Given the description of an element on the screen output the (x, y) to click on. 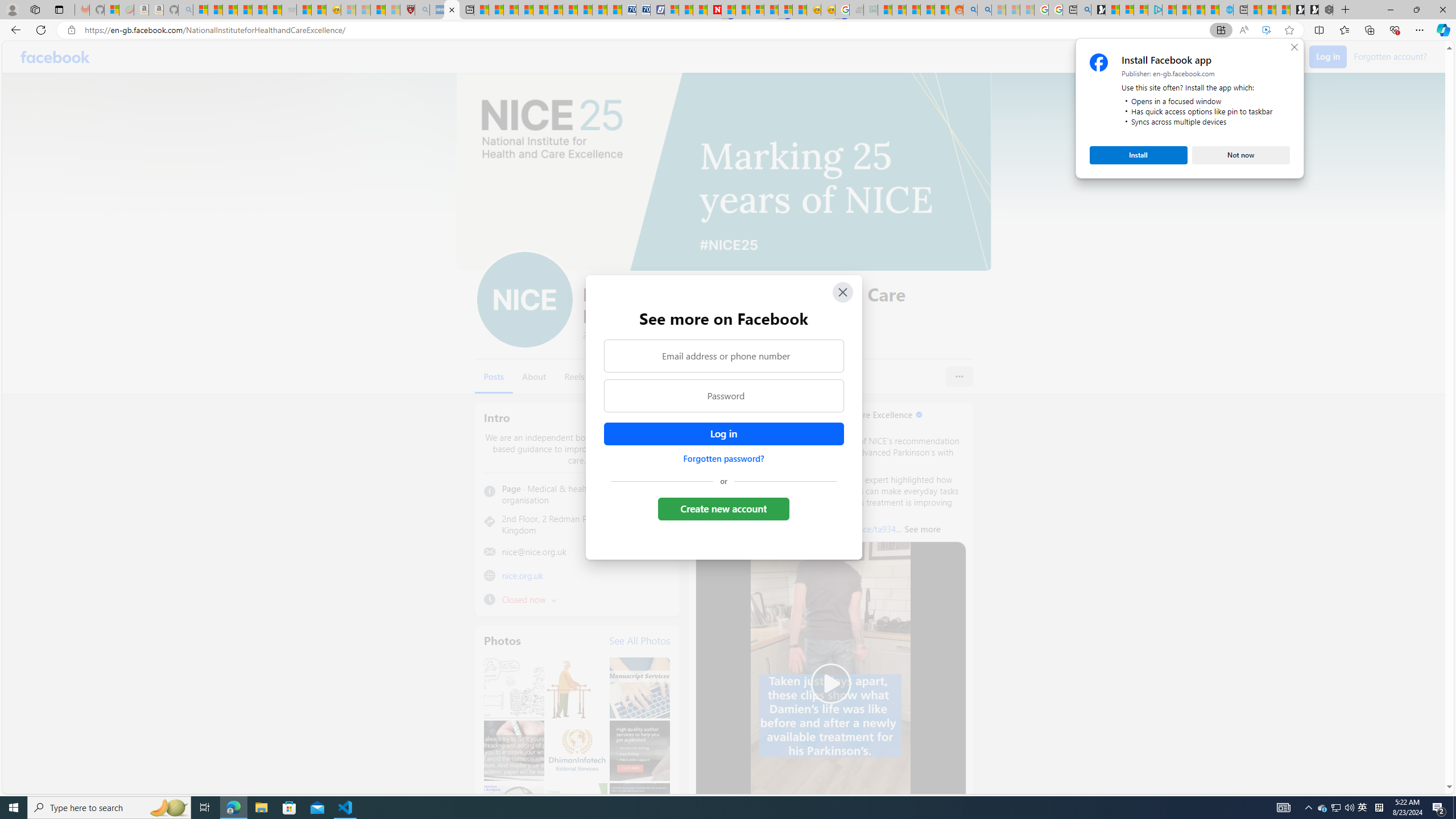
Student Loan Update: Forgiveness Program Ends This Month (927, 9)
Notification Chevron (1308, 807)
Utah sues federal government - Search (983, 9)
Home | Sky Blue Bikes - Sky Blue Bikes (1225, 9)
File Explorer (261, 807)
AutomationID: 4105 (1283, 807)
Show desktop (1454, 807)
